Given the description of an element on the screen output the (x, y) to click on. 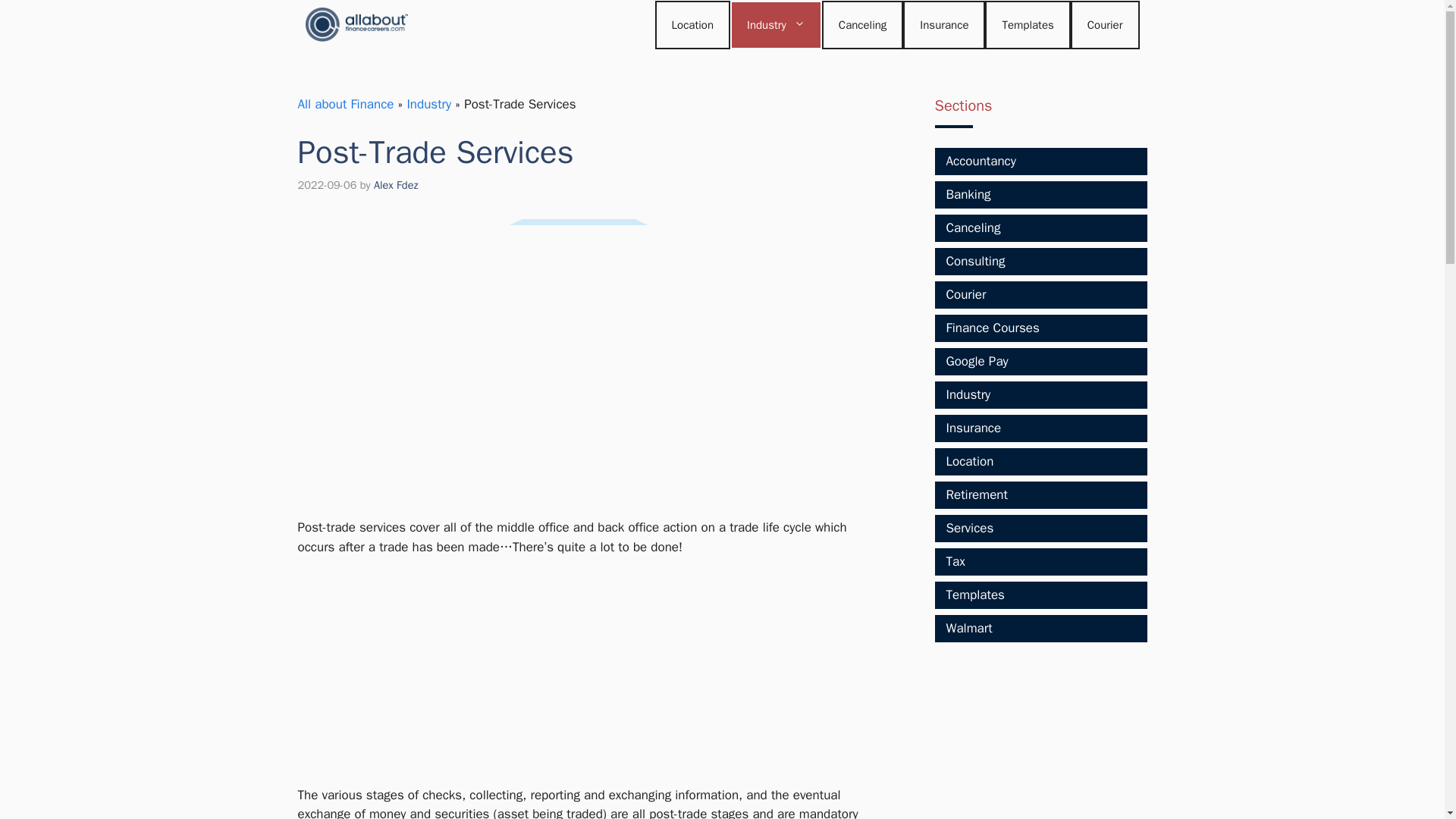
Industry (968, 394)
Insurance (973, 427)
Retirement (976, 494)
Templates (1027, 24)
Courier (1105, 24)
Location (970, 461)
Google Pay (977, 360)
Courier (966, 294)
Alex Fdez (396, 184)
Consulting (976, 261)
